Given the description of an element on the screen output the (x, y) to click on. 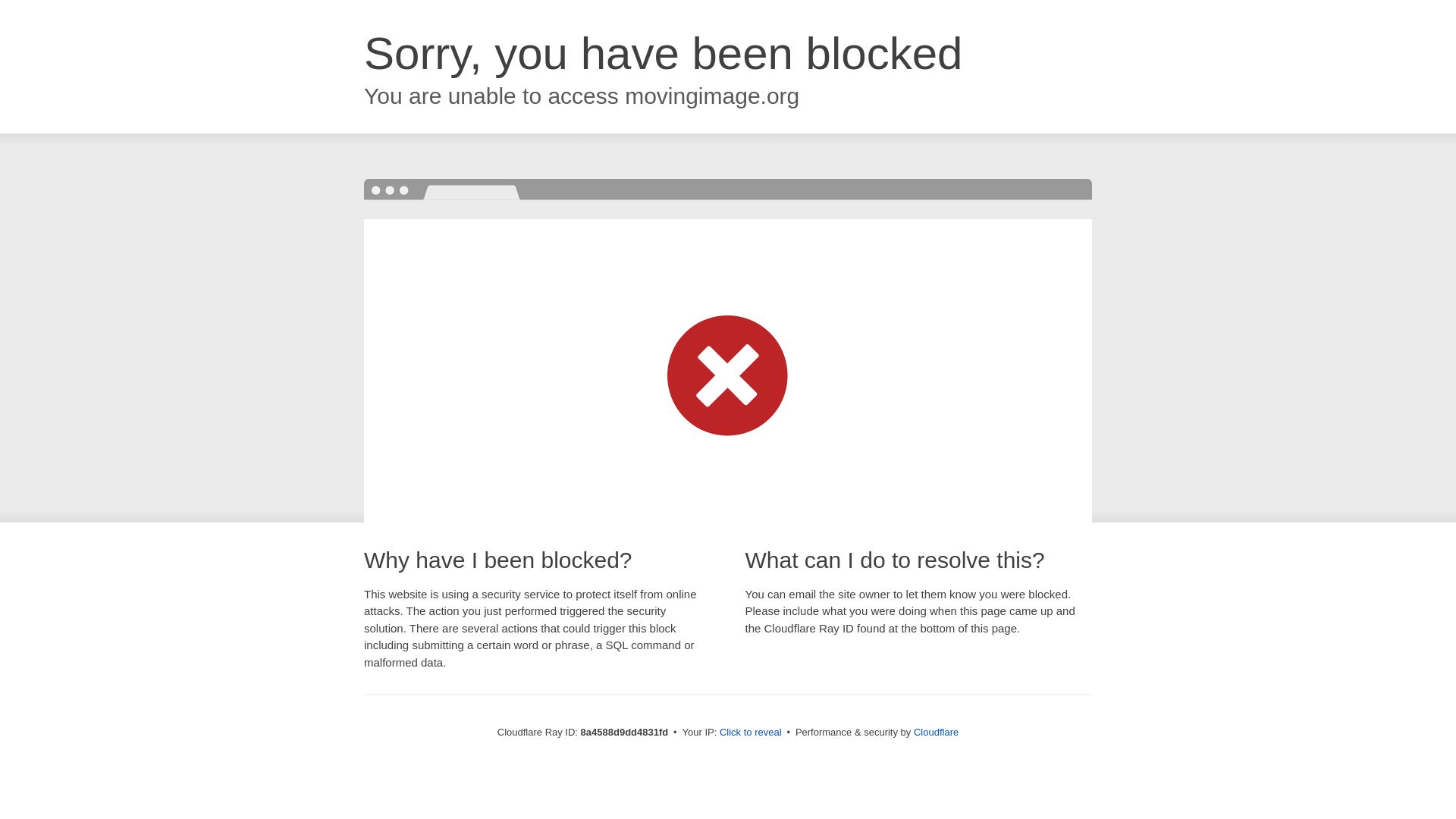
Cloudflare (936, 731)
Click to reveal (750, 732)
